Given the description of an element on the screen output the (x, y) to click on. 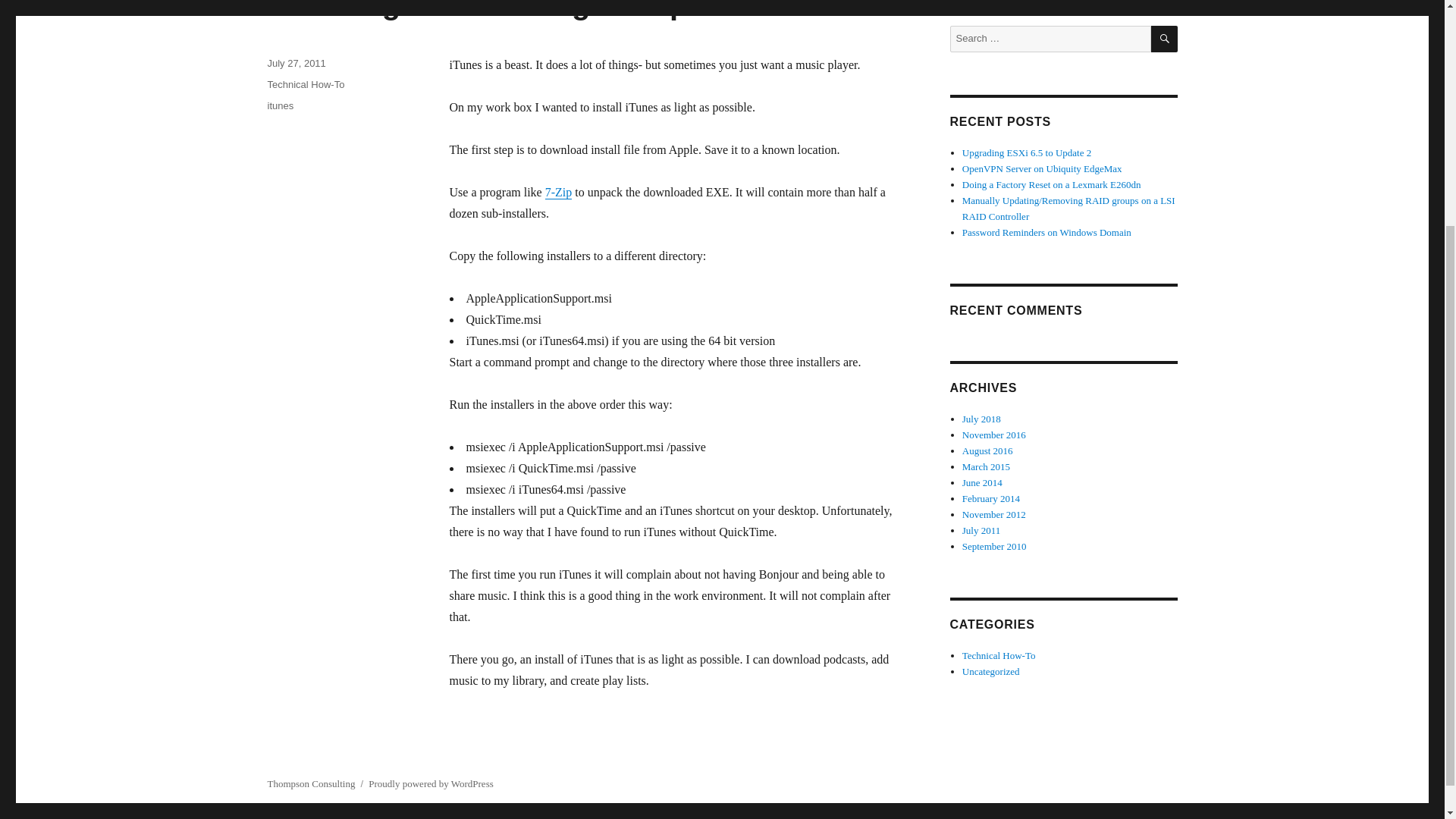
July 2018 (981, 419)
August 2016 (987, 450)
Installing iTunes as light as possible (529, 10)
Thompson Consulting (310, 783)
February 2014 (991, 498)
itunes (280, 105)
July 2011 (981, 530)
Doing a Factory Reset on a Lexmark E260dn (1051, 184)
Technical How-To (998, 655)
Technical How-To (304, 84)
